Given the description of an element on the screen output the (x, y) to click on. 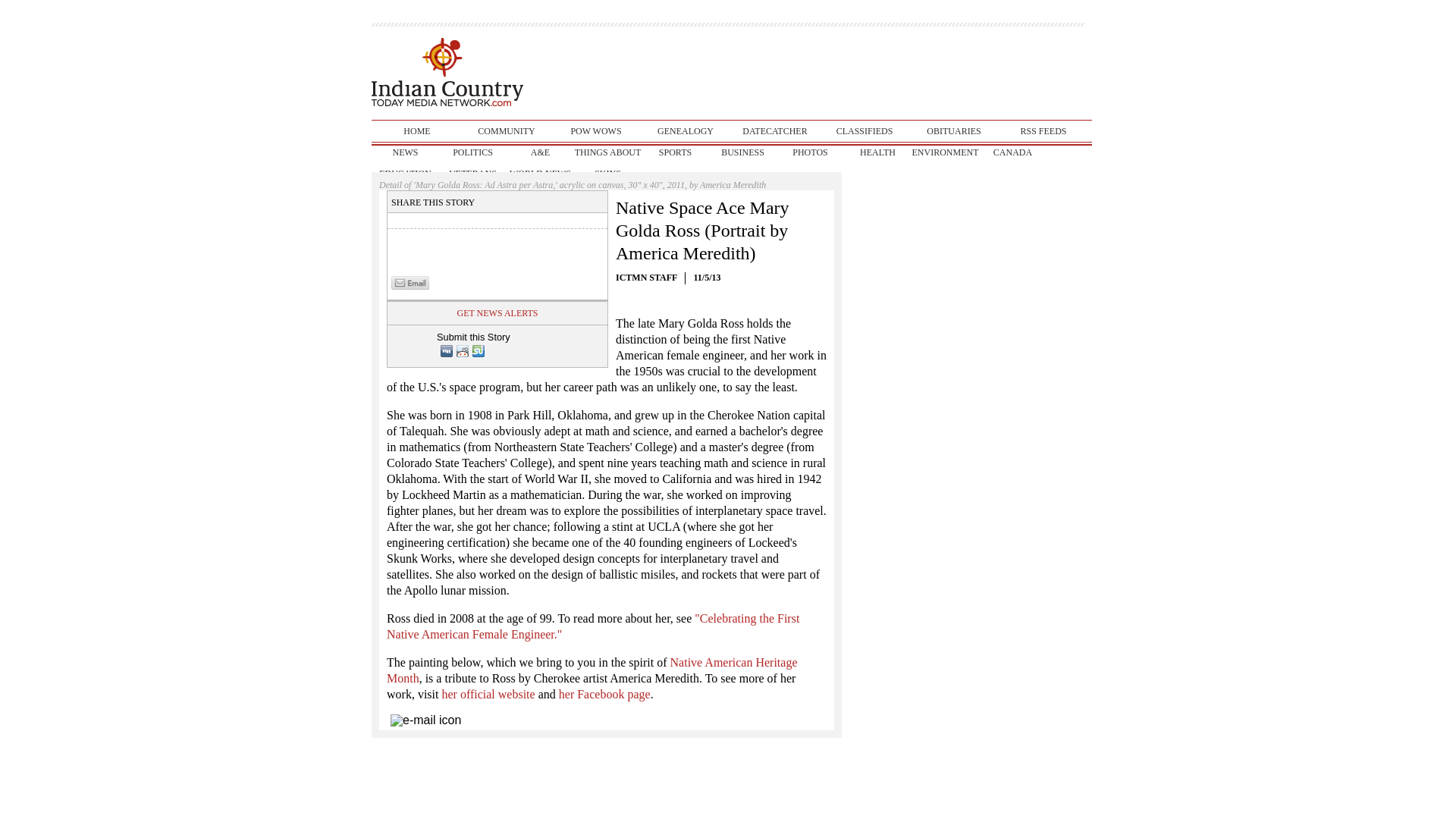
VETERANS (472, 173)
COMMUNITY (506, 130)
POLITICS (472, 151)
ENVIRONMENT (944, 151)
GENEALOGY (685, 130)
WORLD NEWS (539, 173)
SPORTS (675, 151)
BUSINESS (742, 151)
THINGS ABOUT SKINS (607, 151)
